Given the description of an element on the screen output the (x, y) to click on. 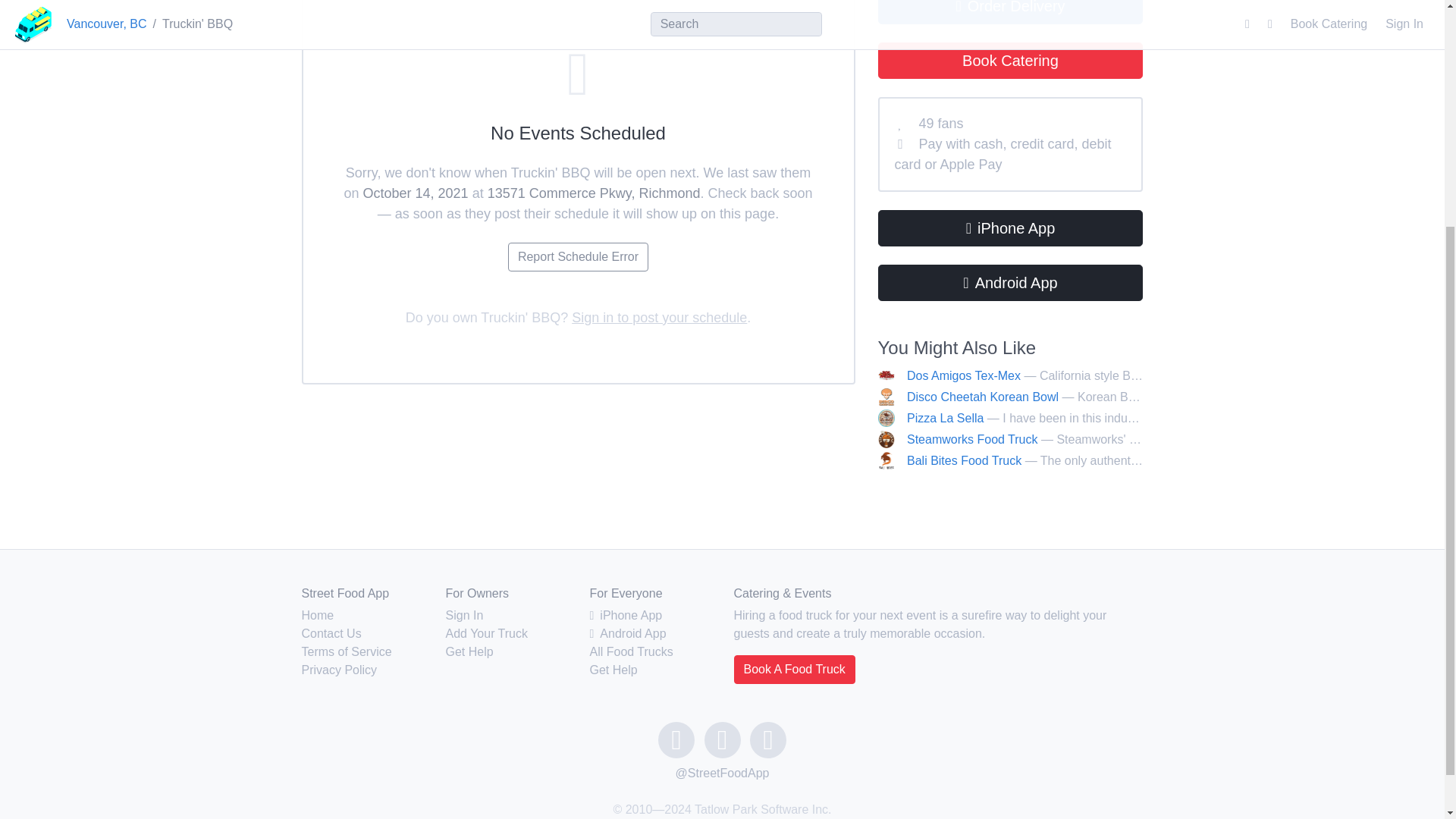
Get Help (613, 669)
Android App (1009, 282)
Add Your Truck (486, 633)
Report Schedule Error (577, 256)
Book Catering (1009, 60)
All Food Trucks (630, 651)
Get Help (469, 651)
Order Delivery (1009, 12)
Dos Amigos Tex-Mex (963, 375)
Contact Us (331, 633)
